Given the description of an element on the screen output the (x, y) to click on. 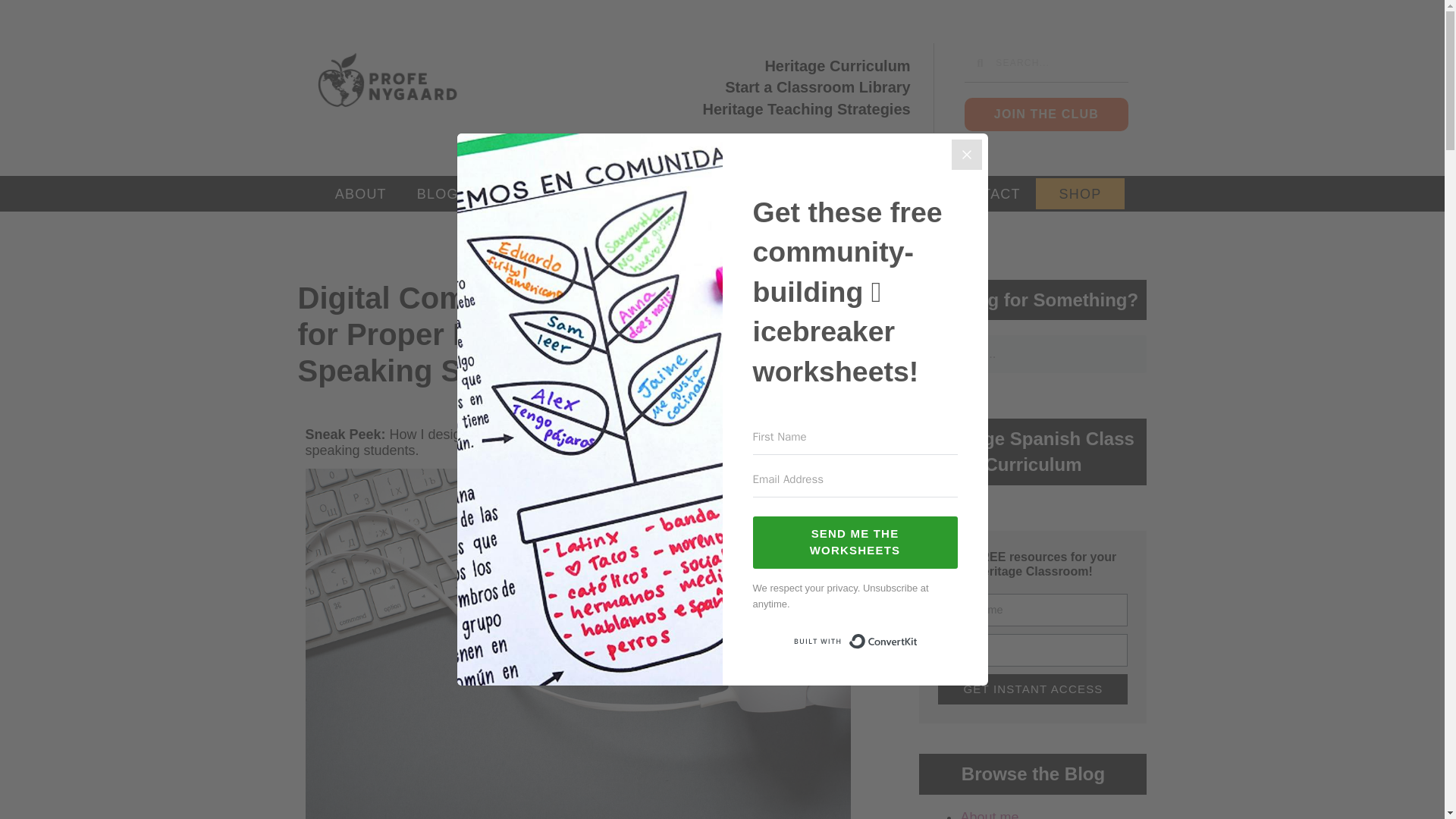
CONTACT (984, 193)
FREE (617, 193)
FB GROUP (528, 193)
CURRICULUM MAPS (844, 193)
Start a Classroom Library (710, 87)
JOIN THE CLUB (1046, 114)
TRAINING (703, 193)
Heritage Teaching Strategies (710, 109)
BLOG (437, 193)
Heritage Curriculum (710, 65)
ABOUT (360, 193)
SHOP (1079, 193)
